Given the description of an element on the screen output the (x, y) to click on. 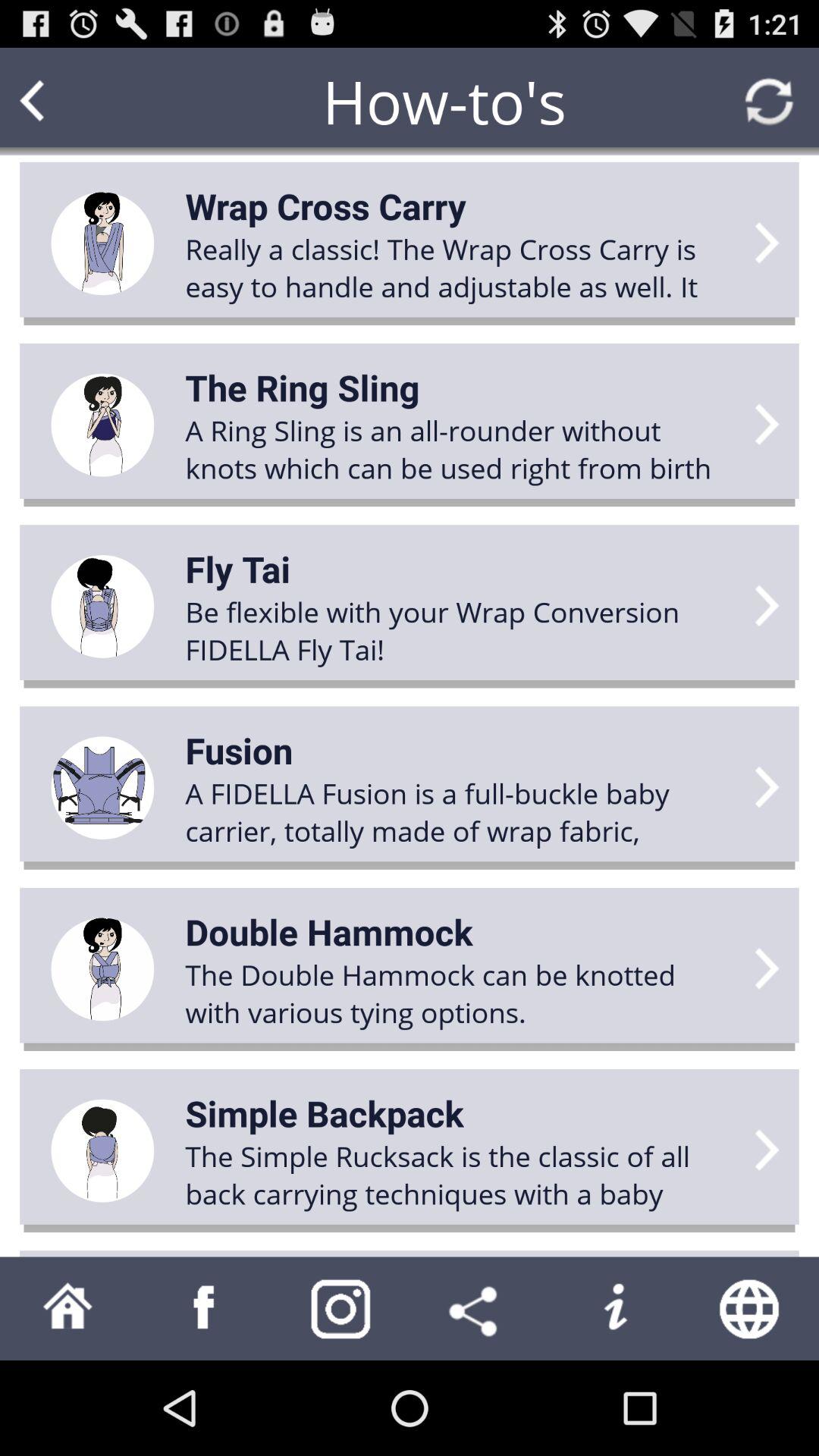
refresh (769, 101)
